Given the description of an element on the screen output the (x, y) to click on. 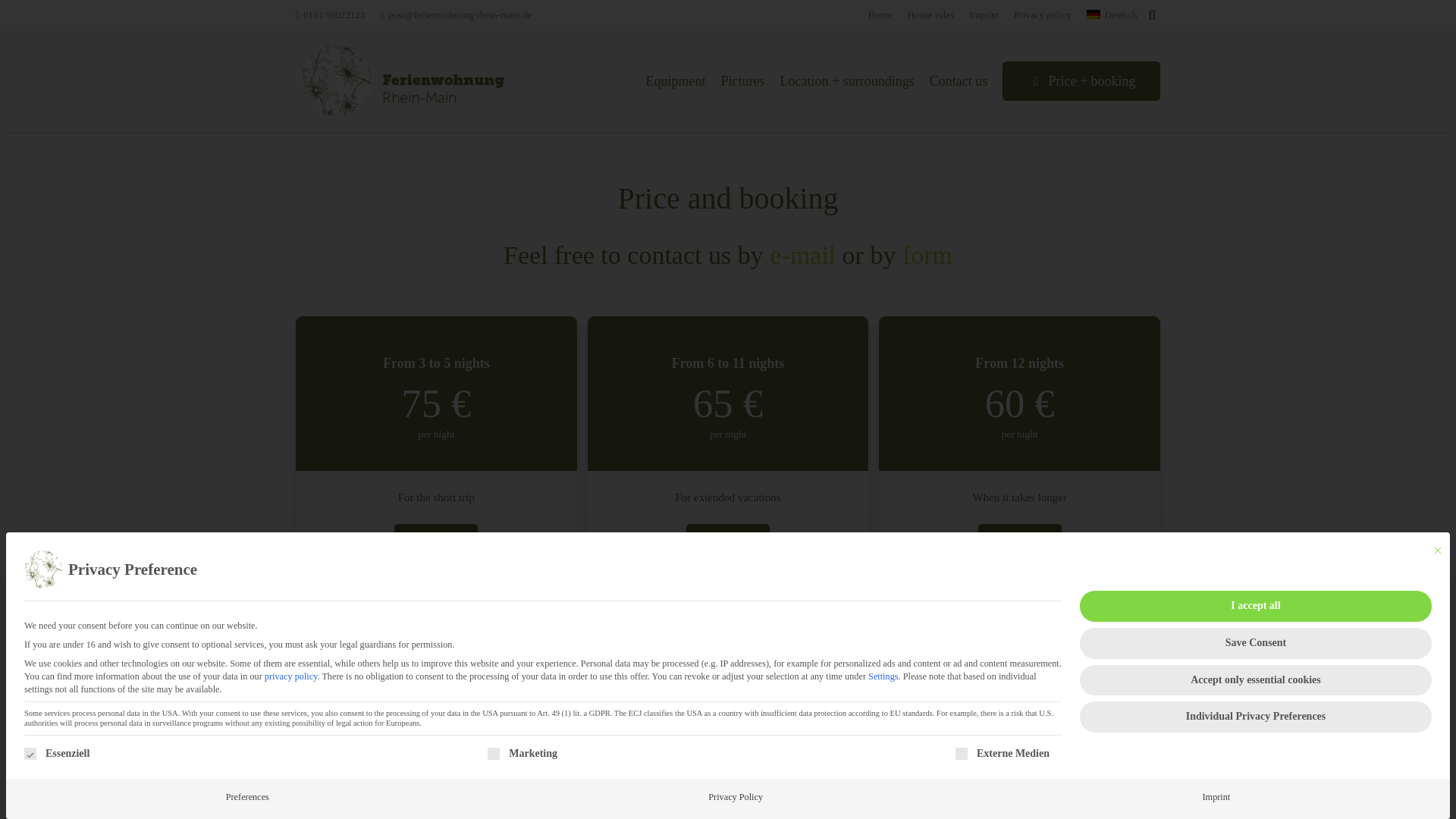
form (927, 254)
Inquire (727, 540)
Privacy policy (1041, 14)
House rules (931, 14)
0151 56022123 (330, 14)
Home (879, 14)
Deutsch (1111, 14)
e-mail (802, 254)
on (961, 753)
Inquire (1019, 540)
